Given the description of an element on the screen output the (x, y) to click on. 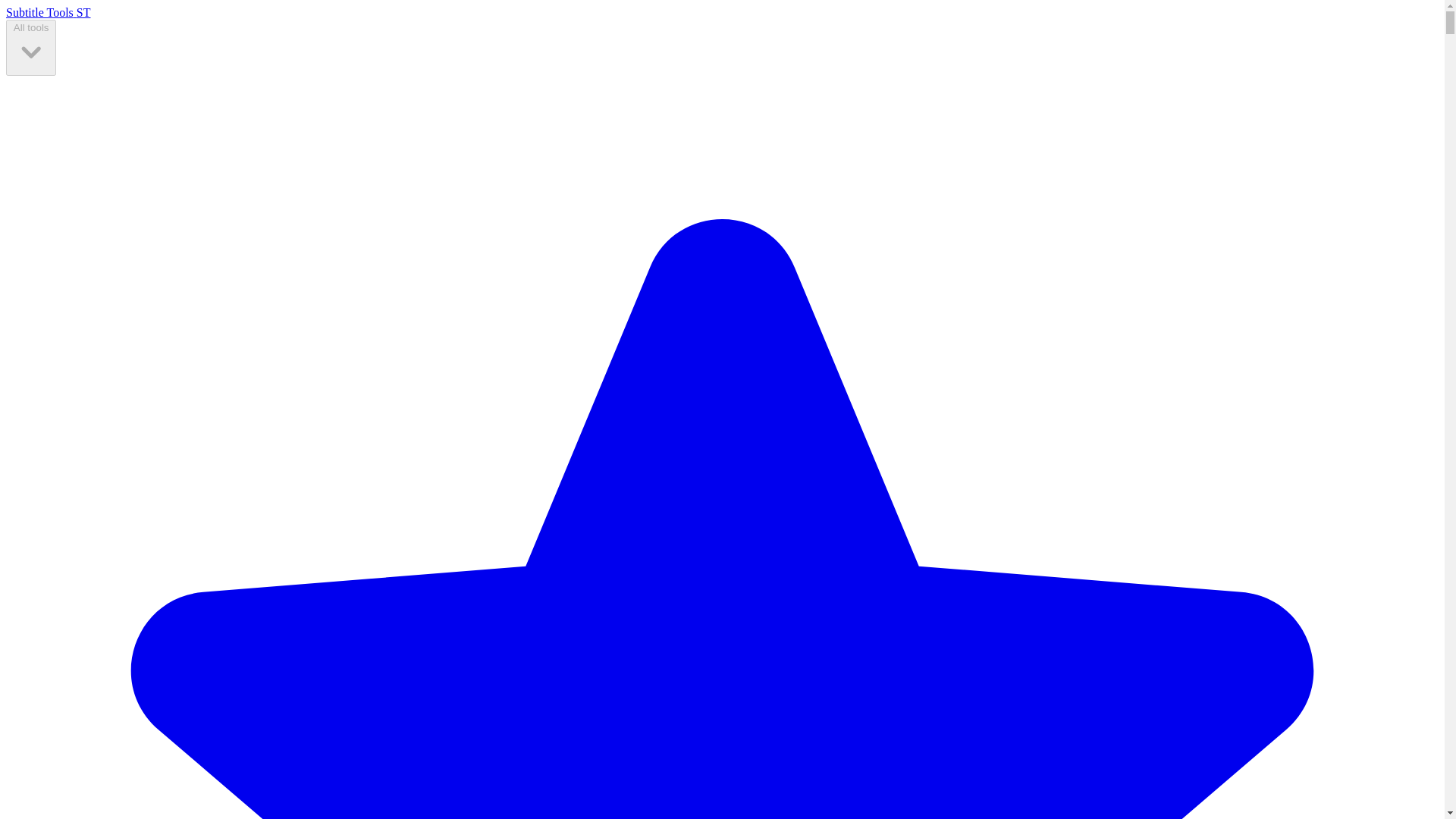
All tools (30, 47)
Subtitle Tools ST (47, 11)
